Given the description of an element on the screen output the (x, y) to click on. 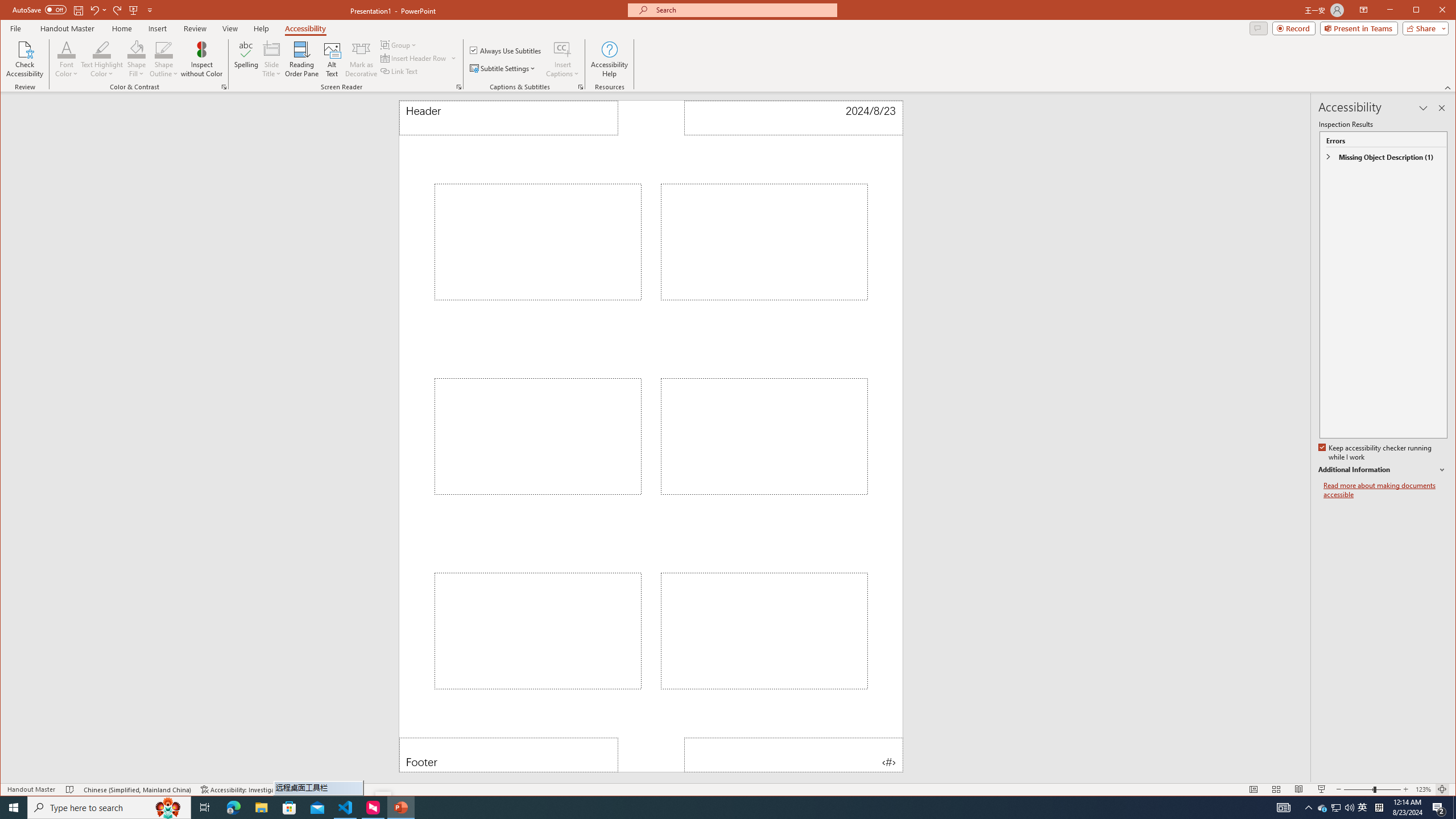
Insert Header Row (418, 57)
Slide Title (271, 59)
Header (508, 117)
